Given the description of an element on the screen output the (x, y) to click on. 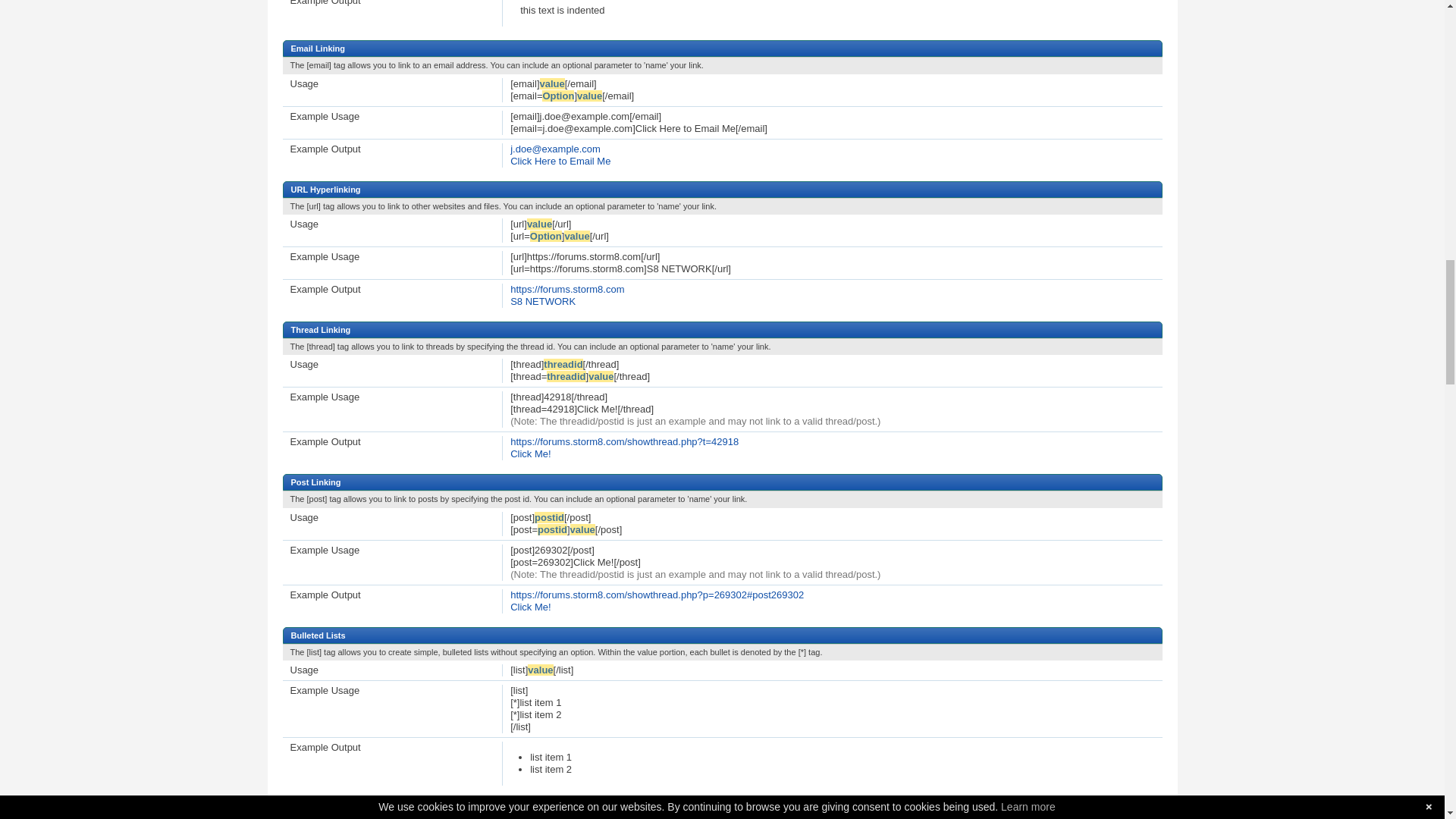
S8 NETWORK - Thread 42918 (530, 453)
S8 NETWORK - Post 269302 (530, 606)
